Given the description of an element on the screen output the (x, y) to click on. 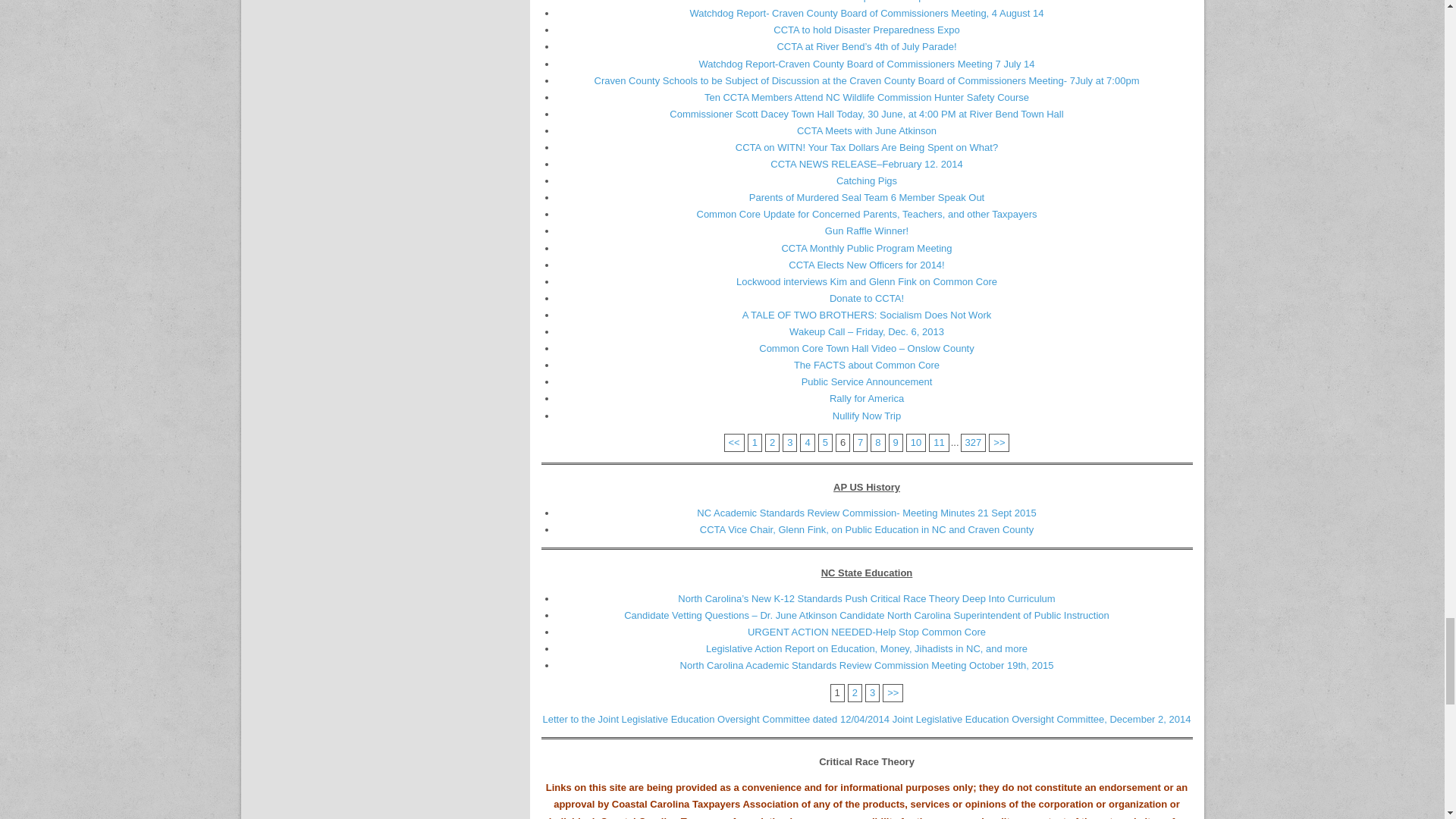
5 (734, 441)
